Given the description of an element on the screen output the (x, y) to click on. 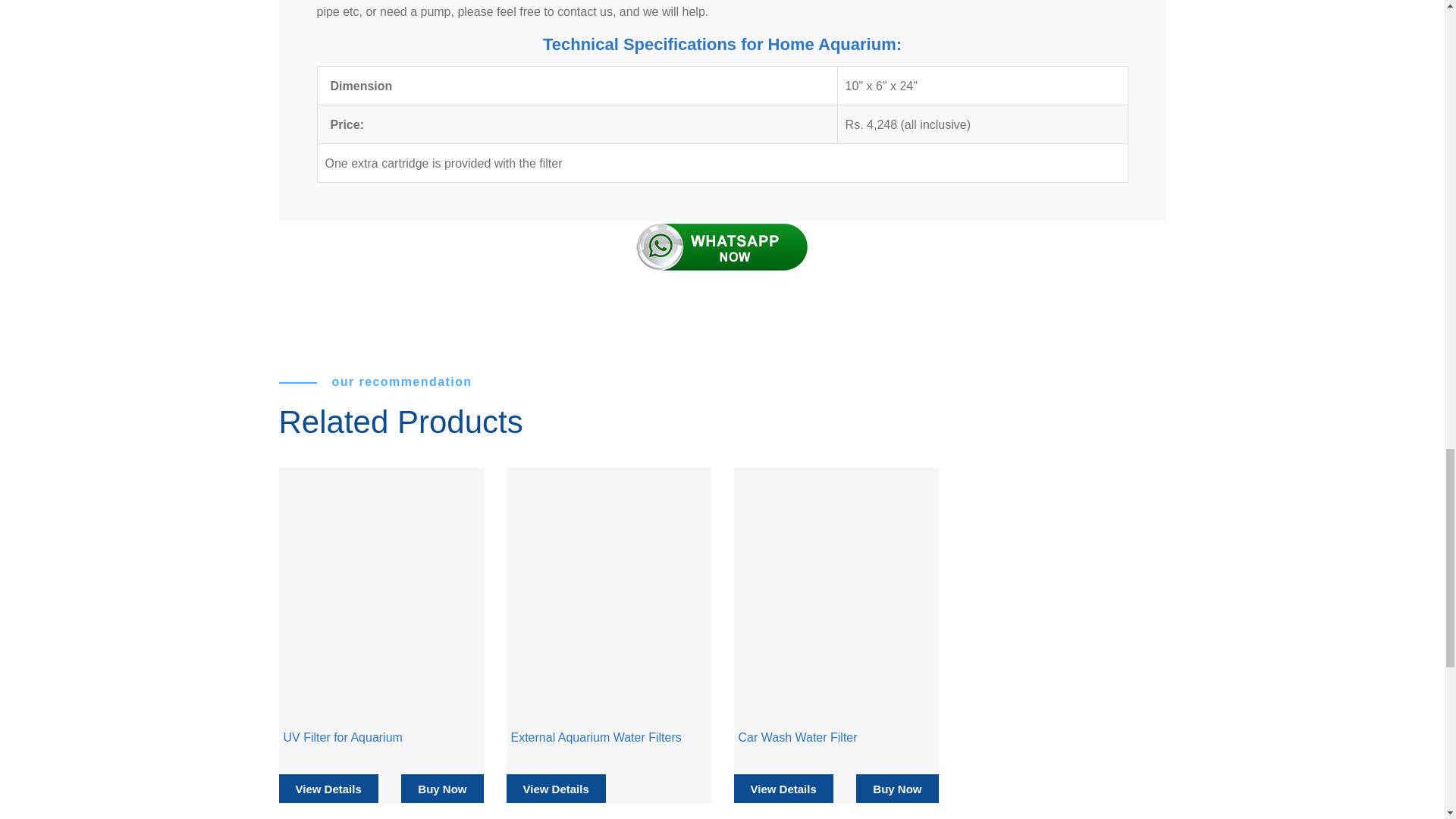
View Details (782, 788)
Buy Now (896, 788)
View Details (328, 788)
View Details (555, 788)
Buy Now (442, 788)
WhatsApp Now (721, 246)
